Given the description of an element on the screen output the (x, y) to click on. 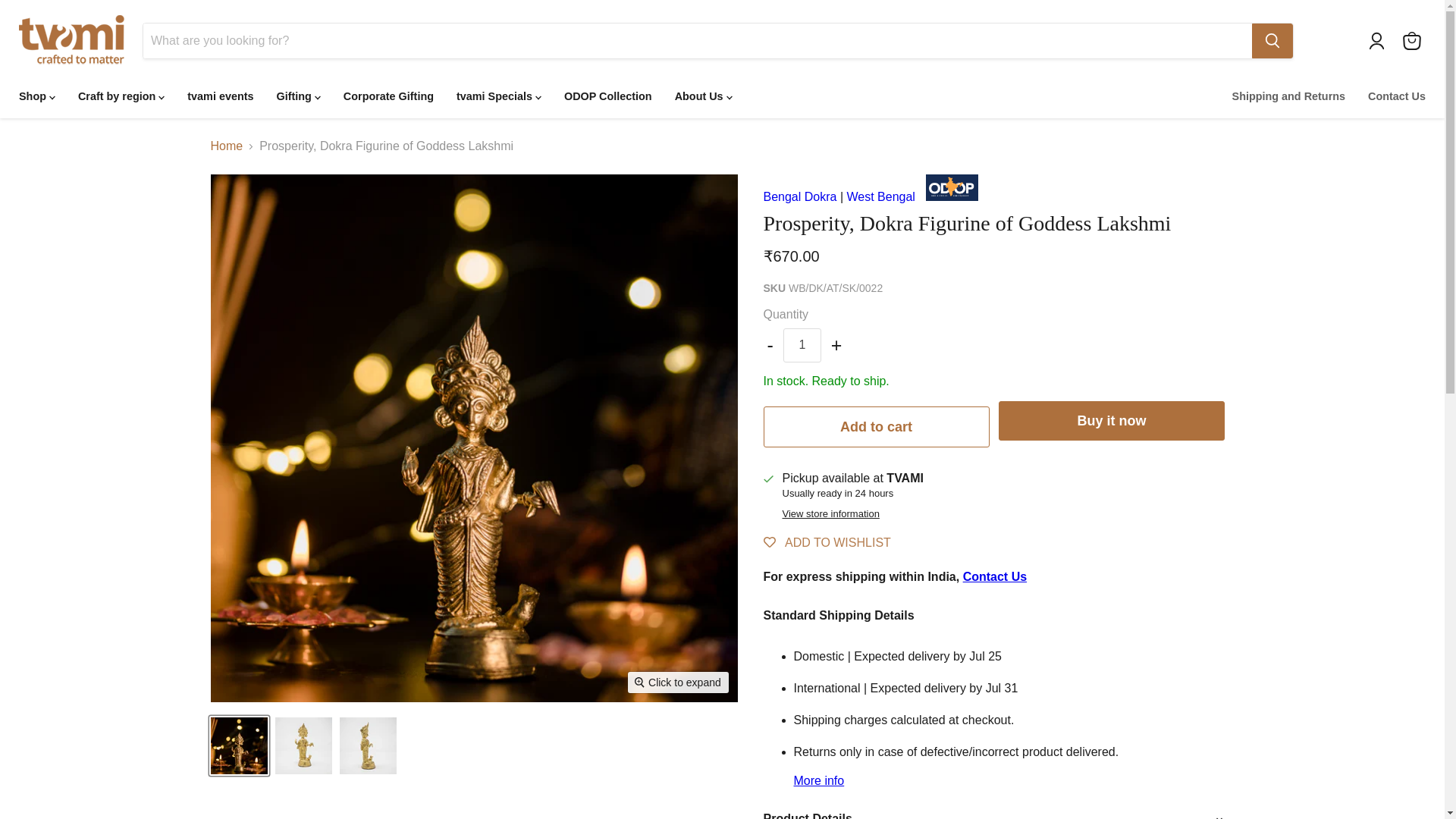
View cart (1411, 40)
1 (802, 344)
